Given the description of an element on the screen output the (x, y) to click on. 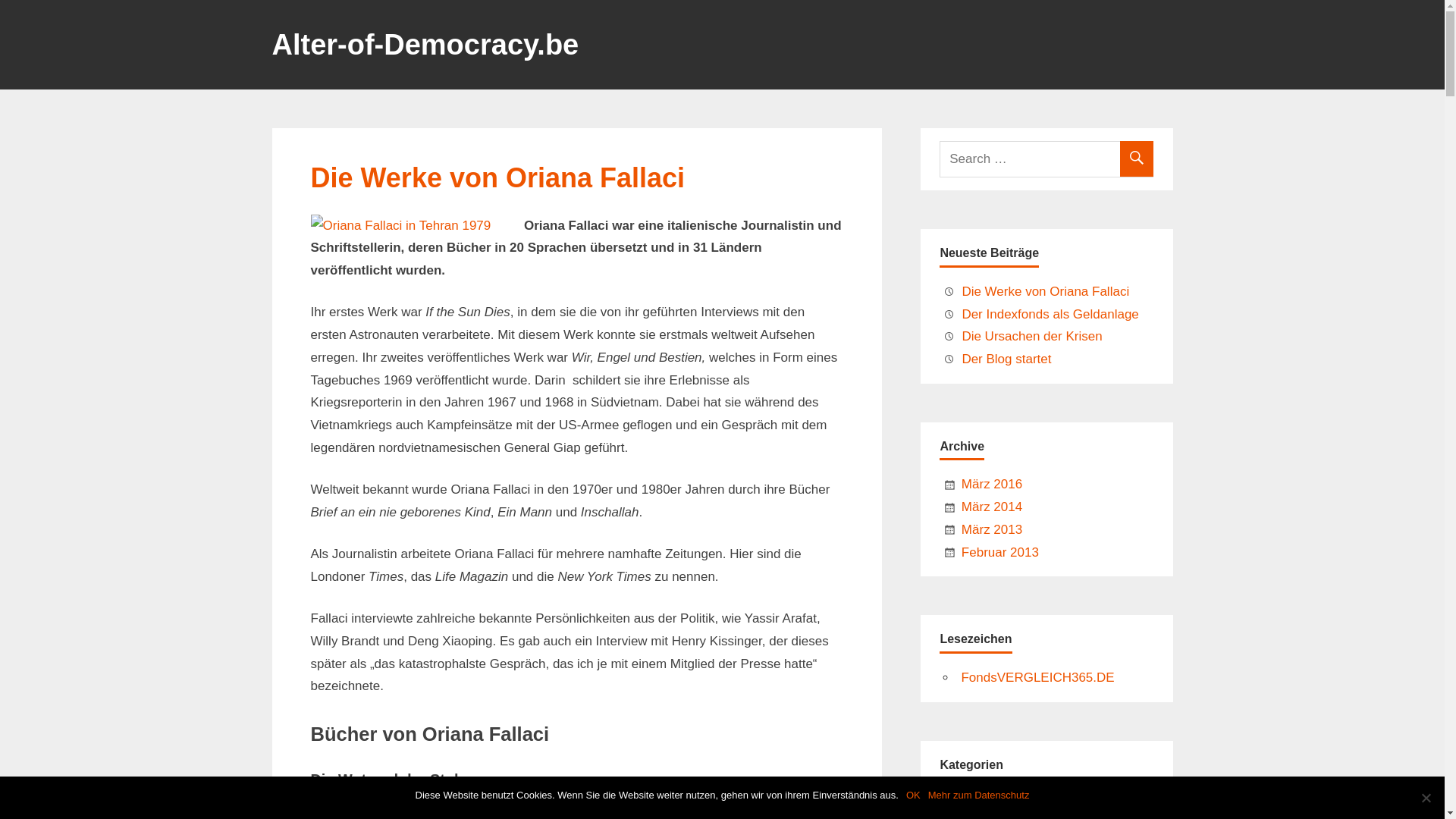
Allgemeines Element type: text (996, 802)
FondsVERGLEICH365.DE Element type: text (1036, 677)
Der Blog startet Element type: text (1006, 358)
Mehr zum Datenschutz Element type: text (978, 795)
Februar 2013 Element type: text (999, 552)
Der Indexfonds als Geldanlage Element type: text (1049, 314)
Die Ursachen der Krisen Element type: text (1031, 336)
Die Werke von Oriana Fallaci Element type: text (1045, 291)
Nein Element type: hover (1425, 797)
Alter-of-Democracy.be Element type: text (424, 49)
OK Element type: text (913, 795)
Die Werke von Oriana Fallaci Element type: text (497, 177)
